Given the description of an element on the screen output the (x, y) to click on. 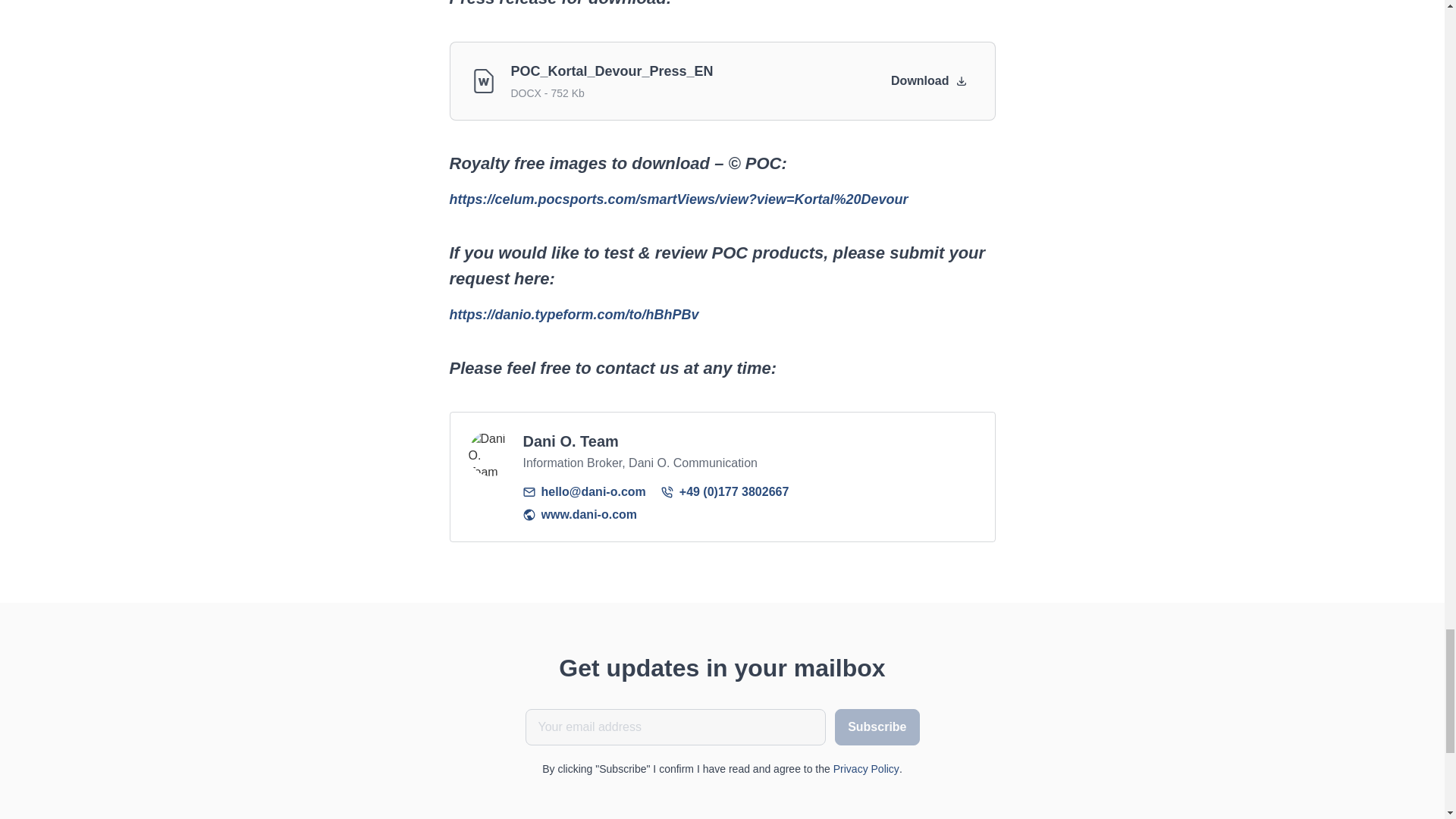
www.dani-o.com (579, 514)
www.dani-o.com (579, 514)
Privacy Policy (865, 768)
Subscribe (876, 727)
Dani O. Team (490, 452)
